Given the description of an element on the screen output the (x, y) to click on. 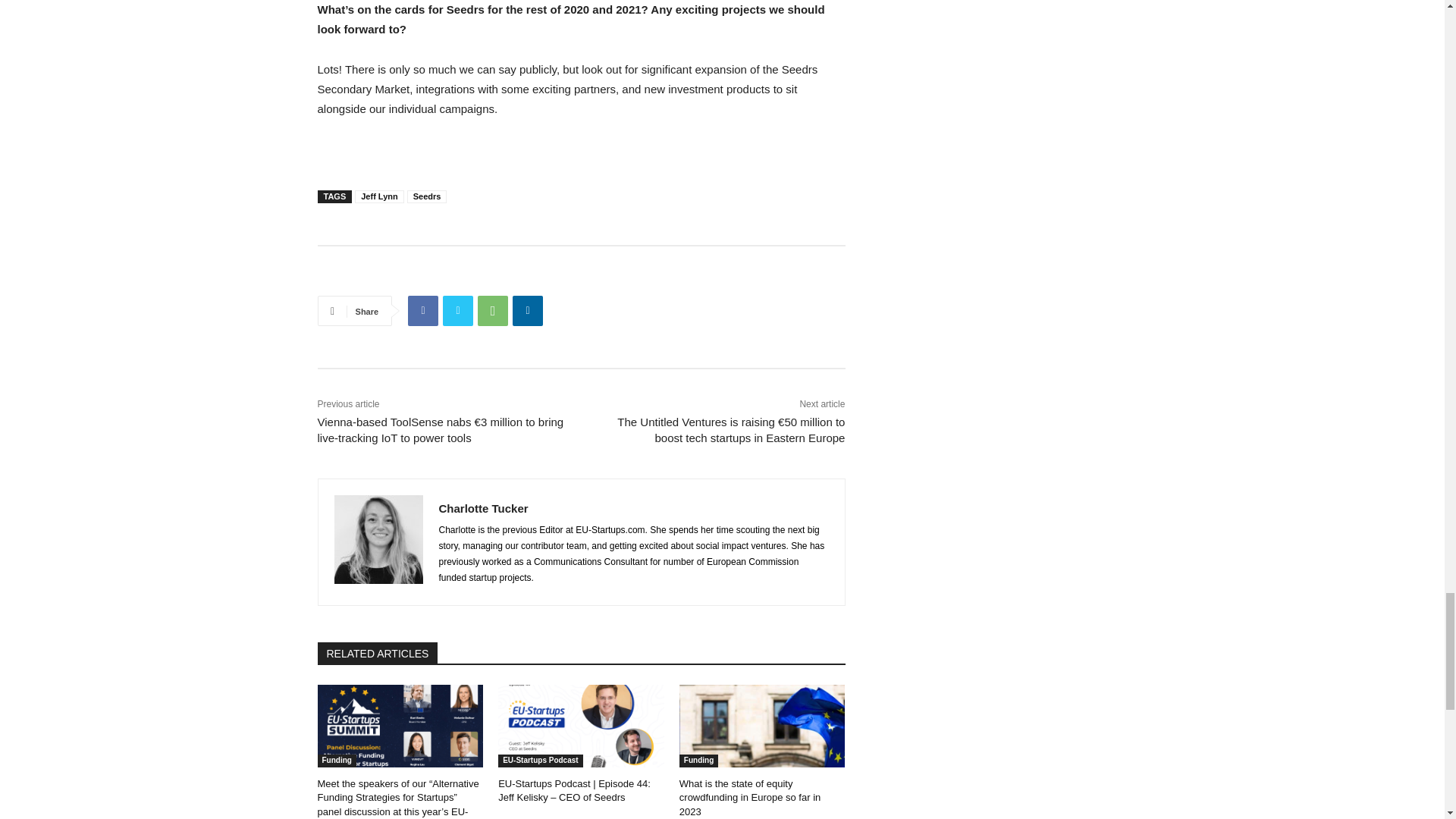
Twitter (457, 310)
Share article (356, 277)
Facebook (422, 310)
